Given the description of an element on the screen output the (x, y) to click on. 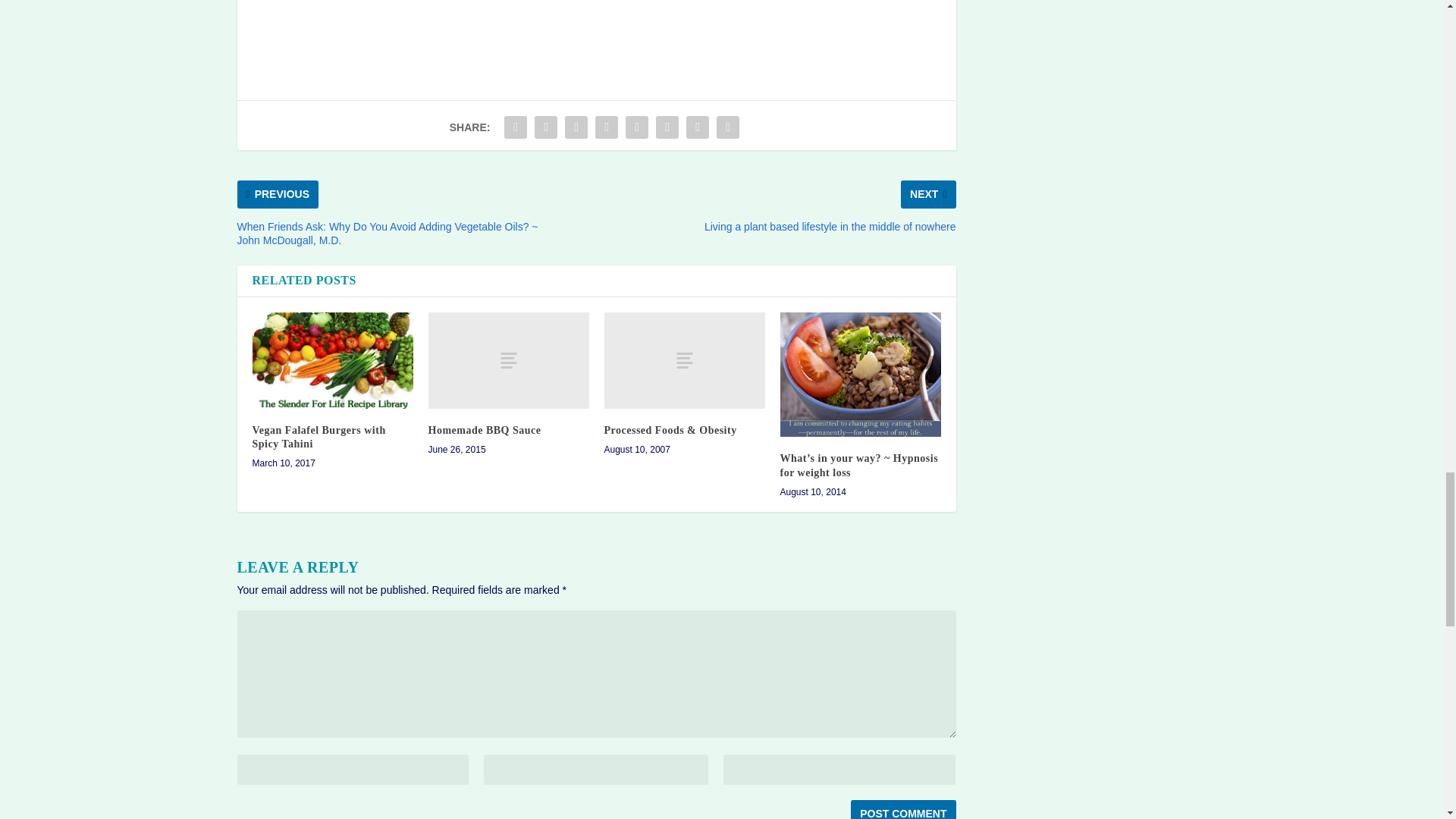
Post Comment (902, 809)
